Given the description of an element on the screen output the (x, y) to click on. 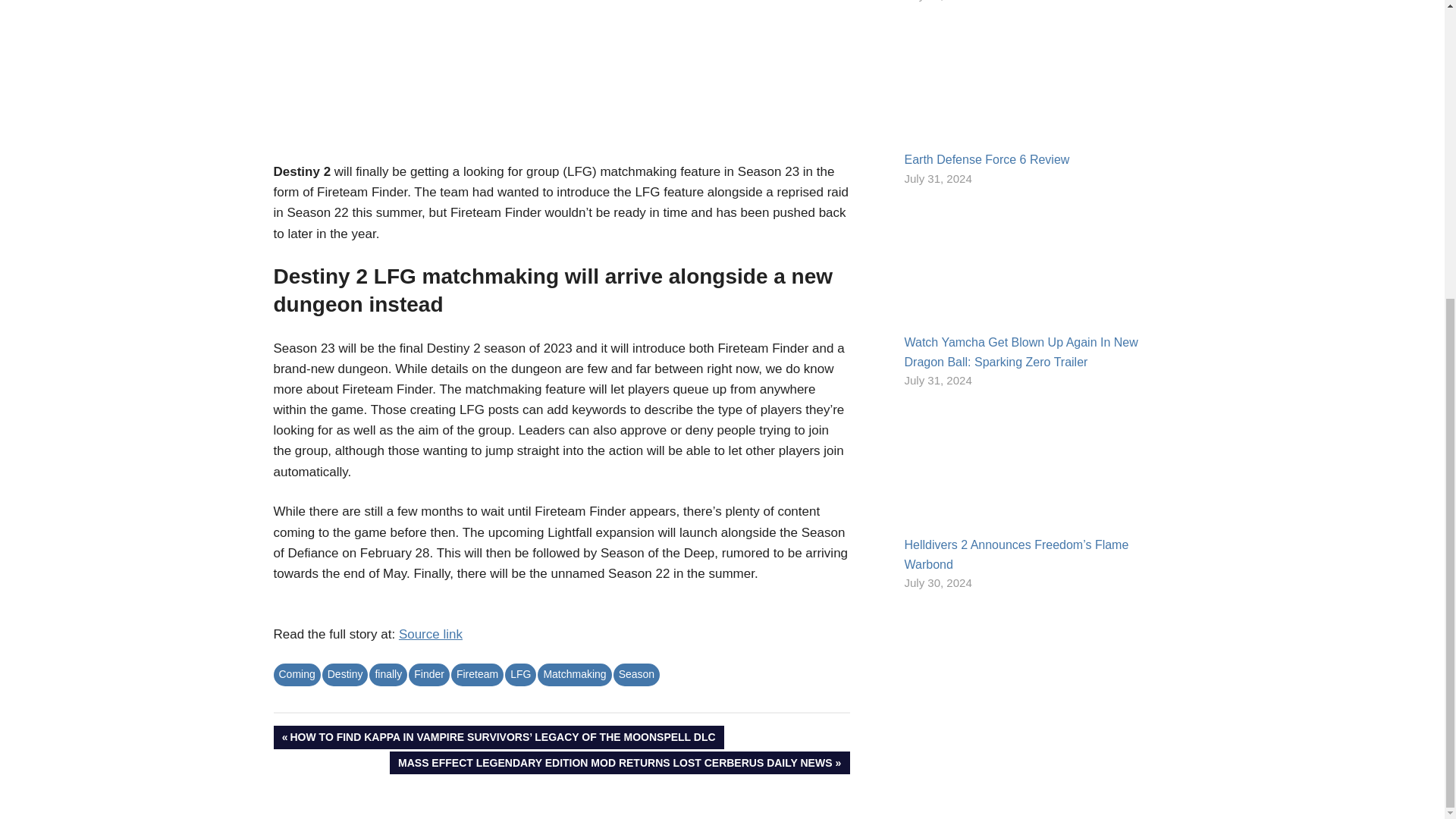
Source link (430, 634)
Season (635, 674)
LFG (520, 674)
Destiny (344, 674)
Matchmaking (574, 674)
Finder (429, 674)
Earth Defense Force 6 Review (986, 159)
Coming (296, 674)
Fireteam (477, 674)
finally (388, 674)
